Given the description of an element on the screen output the (x, y) to click on. 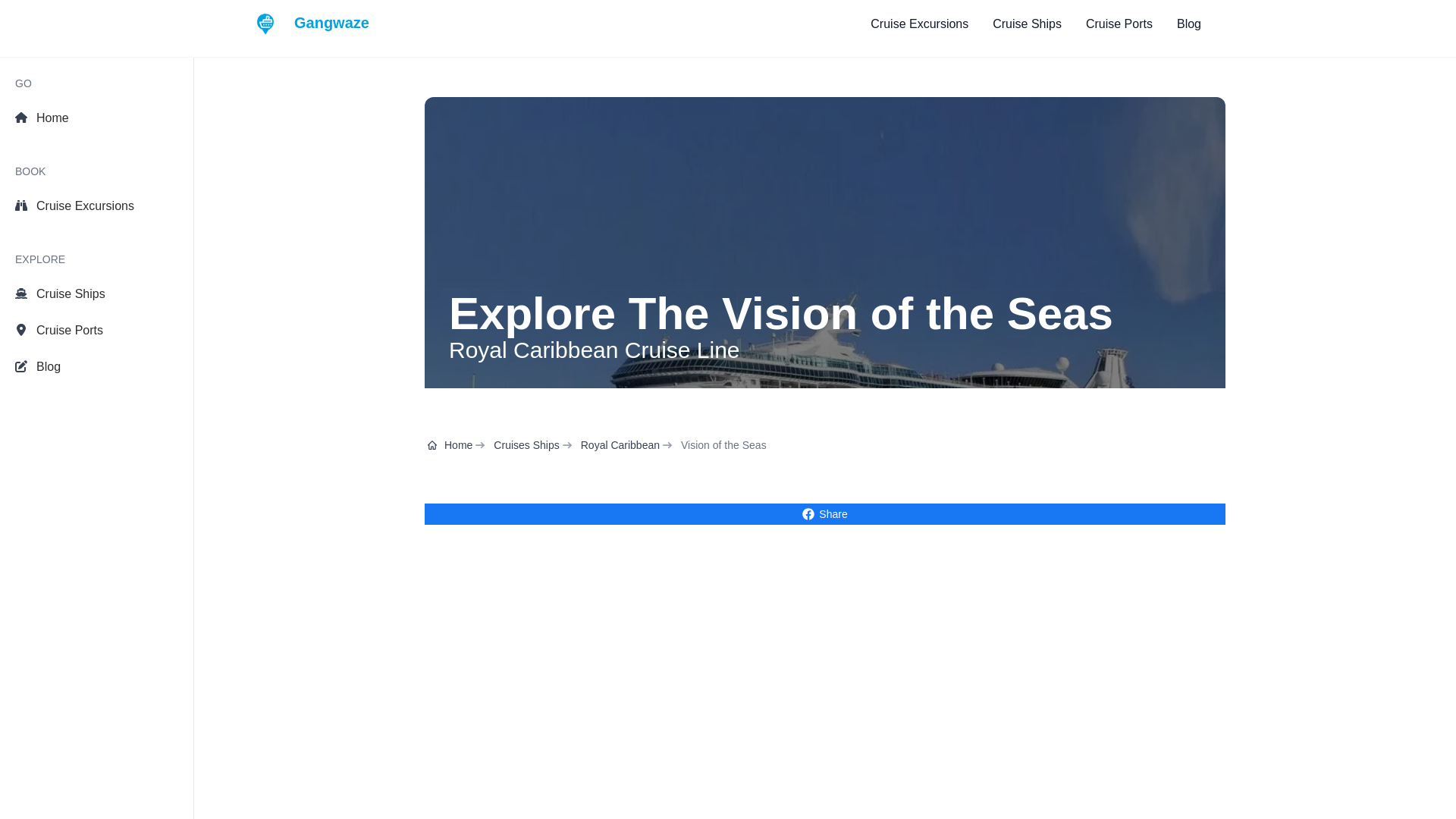
Home (449, 444)
Cruise Ports (96, 330)
Royal Caribbean (619, 444)
Cruise Ships (96, 294)
Cruise Ships (1026, 24)
Cruise Excursions (919, 24)
Cruises Ships (526, 444)
Blog (1188, 24)
Share (825, 513)
Gangwaze (311, 24)
